Given the description of an element on the screen output the (x, y) to click on. 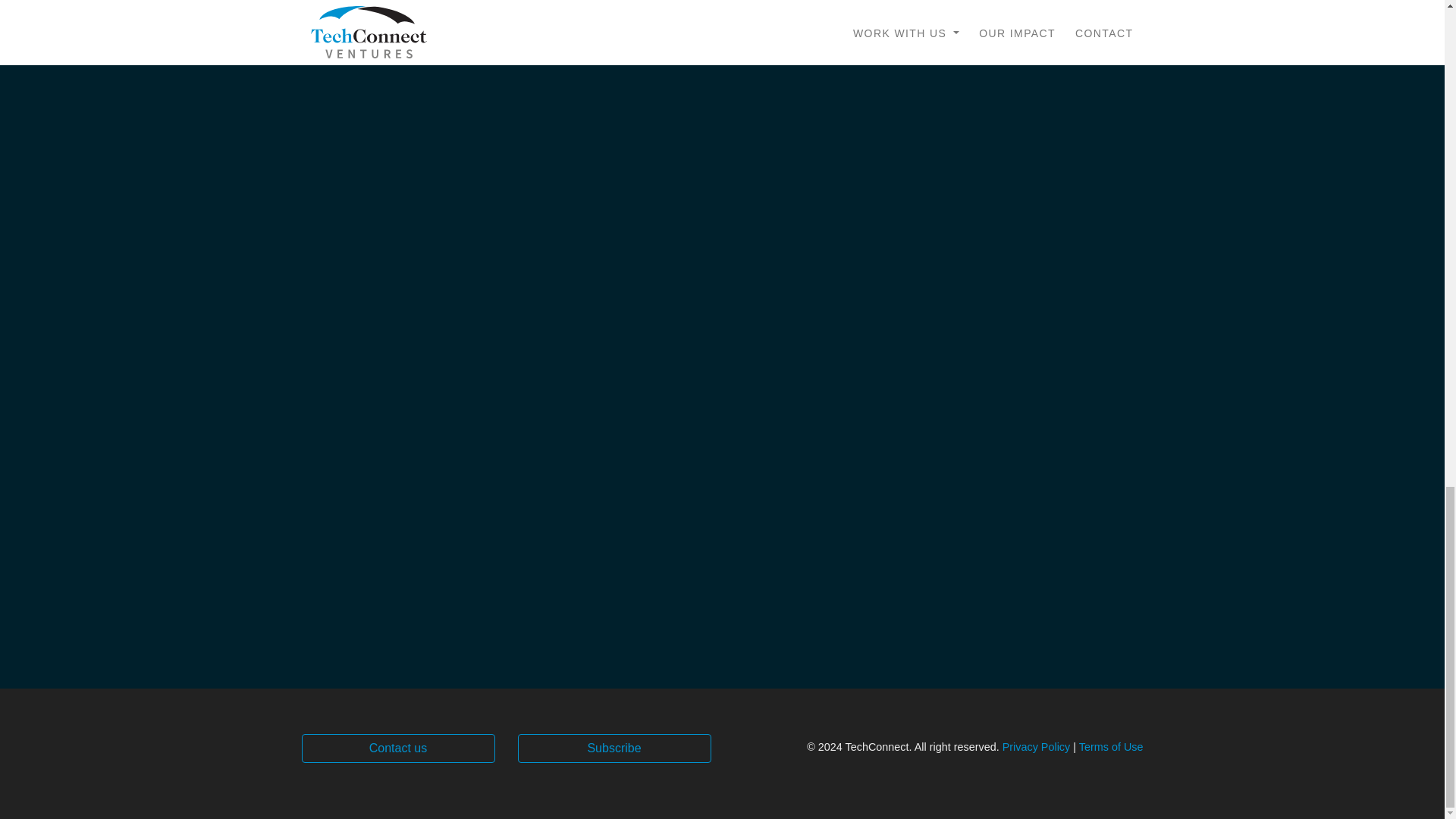
Subscribe (613, 747)
Terms of Use (1110, 746)
Contact us (398, 747)
Privacy Policy (1036, 746)
